Given the description of an element on the screen output the (x, y) to click on. 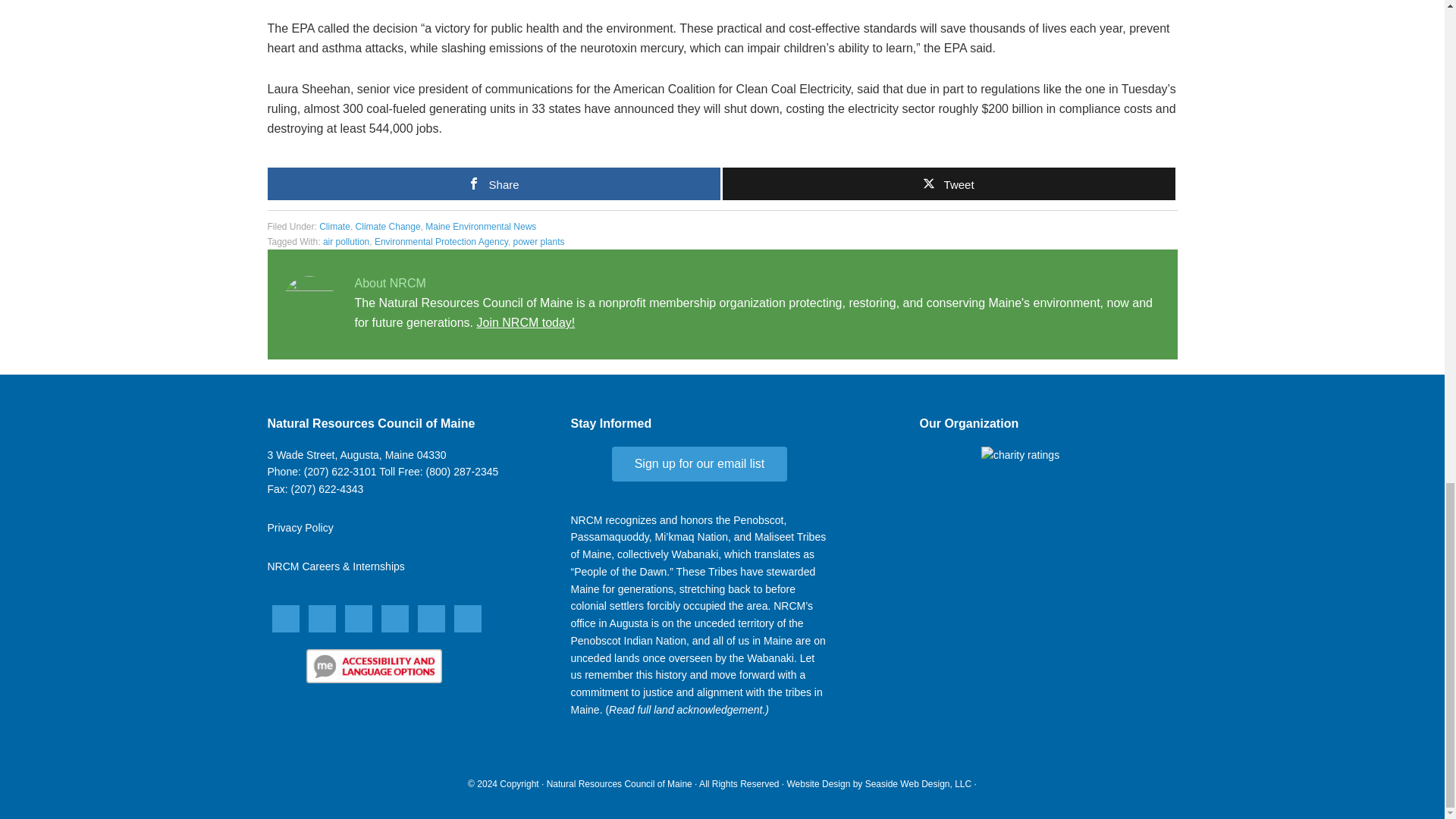
Contact Us (355, 454)
